Given the description of an element on the screen output the (x, y) to click on. 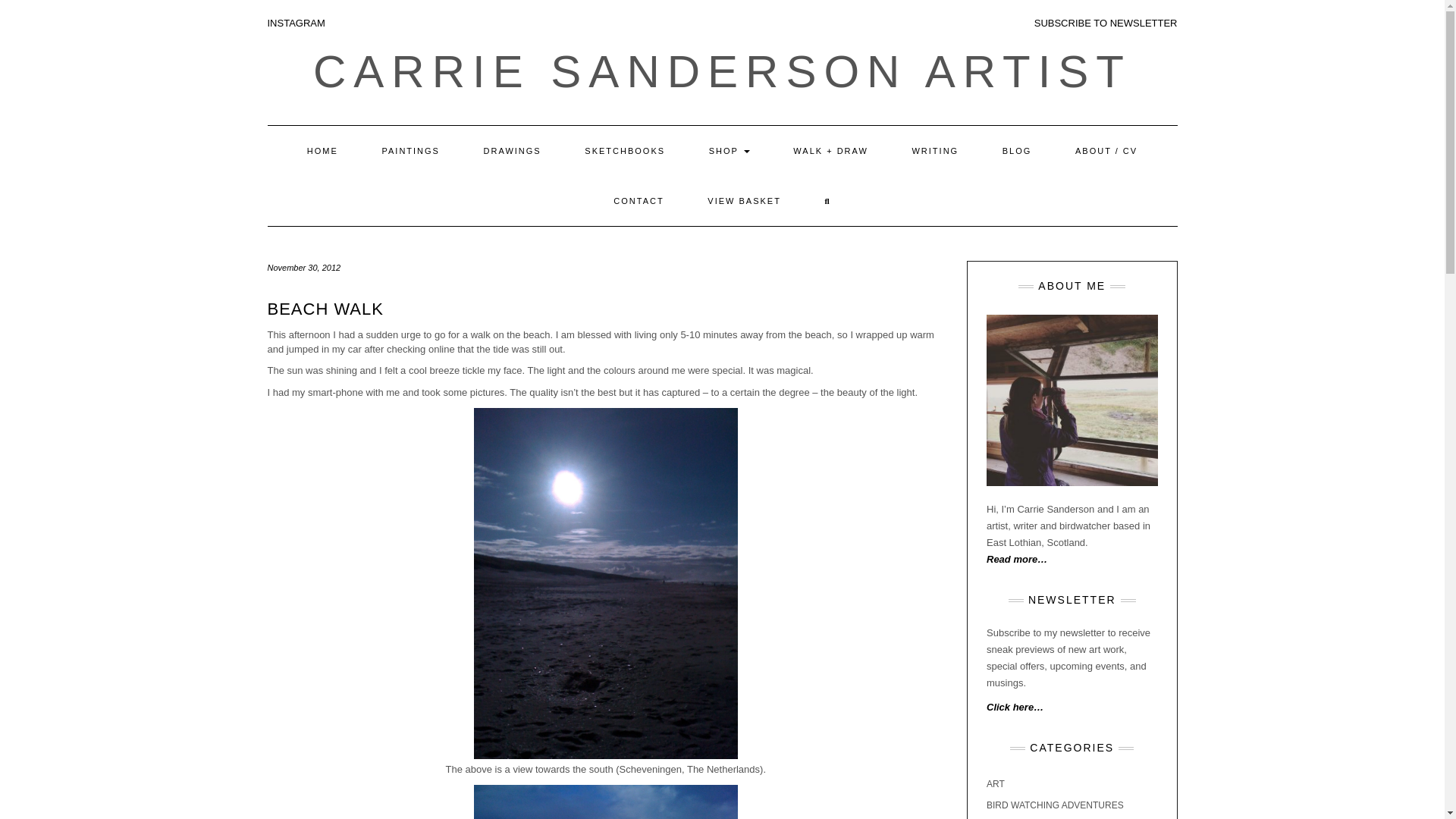
INSTAGRAM (295, 22)
CONTACT (638, 201)
PAINTINGS (410, 151)
HOME (322, 151)
SHOP (729, 151)
SUBSCRIBE TO NEWSLETTER (1105, 22)
BLOG (1016, 151)
DRAWINGS (512, 151)
SKETCHBOOKS (624, 151)
WRITING (934, 151)
CARRIE SANDERSON ARTIST (722, 71)
VIEW BASKET (744, 201)
